Given the description of an element on the screen output the (x, y) to click on. 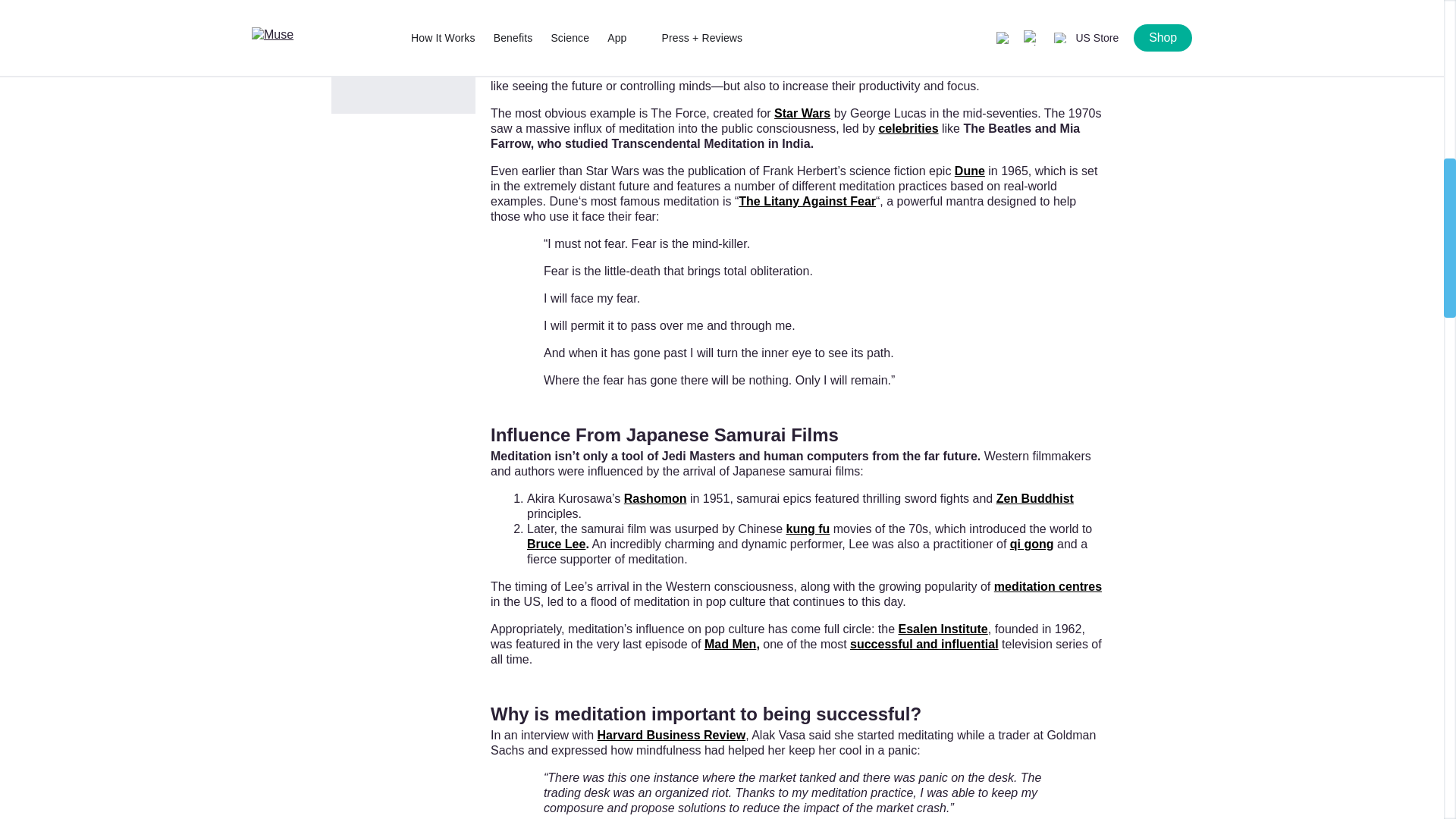
The Litany Against Fear (807, 201)
Bruce Lee (556, 543)
Mad Men (729, 644)
Harvard Business Review (670, 735)
meditation centres (1048, 585)
Star Wars (801, 113)
kung fu (807, 528)
successful and influential (924, 644)
Dune (970, 170)
Rashomon (655, 498)
